Given the description of an element on the screen output the (x, y) to click on. 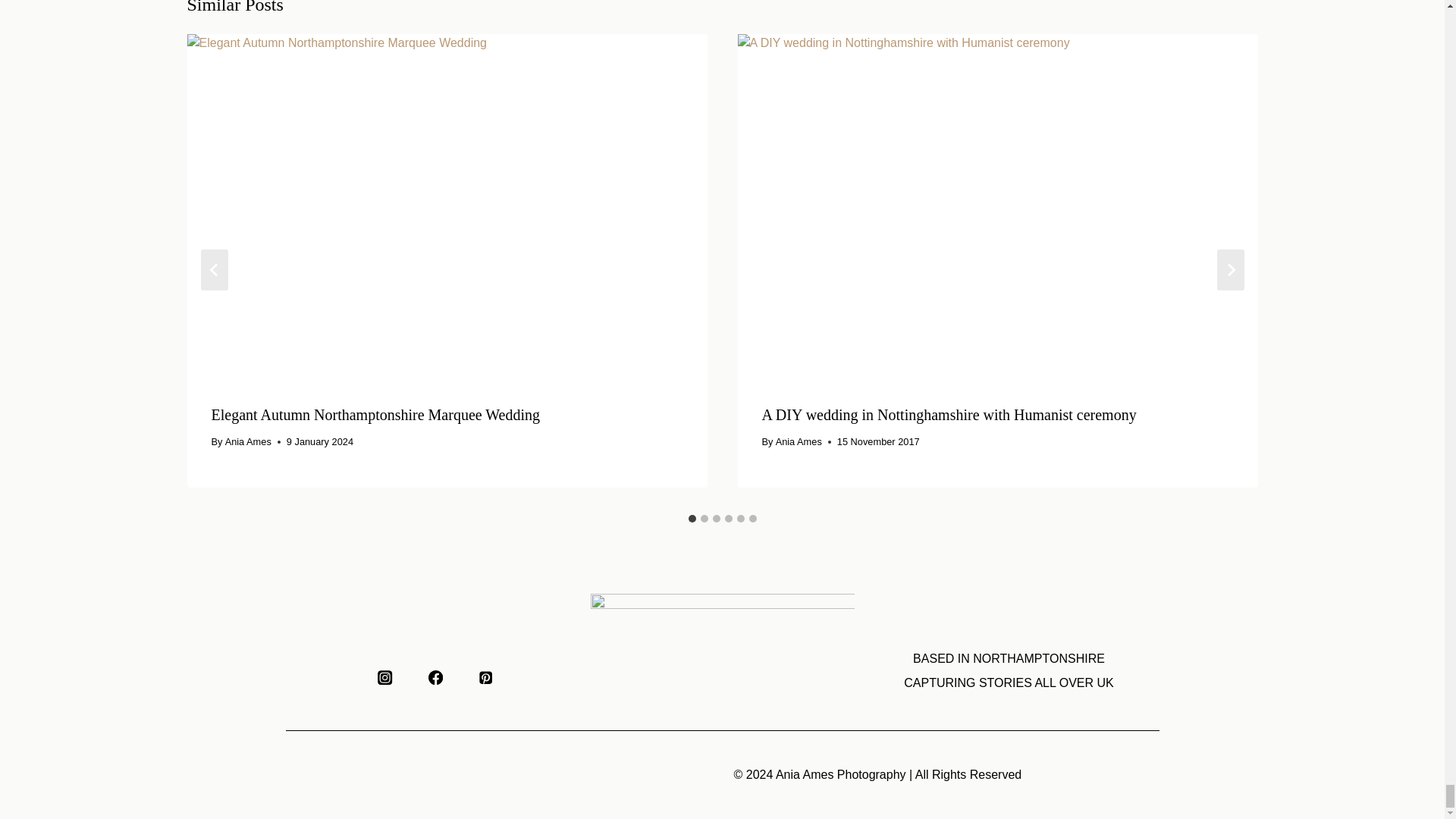
Elegant Autumn Northamptonshire Marquee Wedding (375, 414)
